Given the description of an element on the screen output the (x, y) to click on. 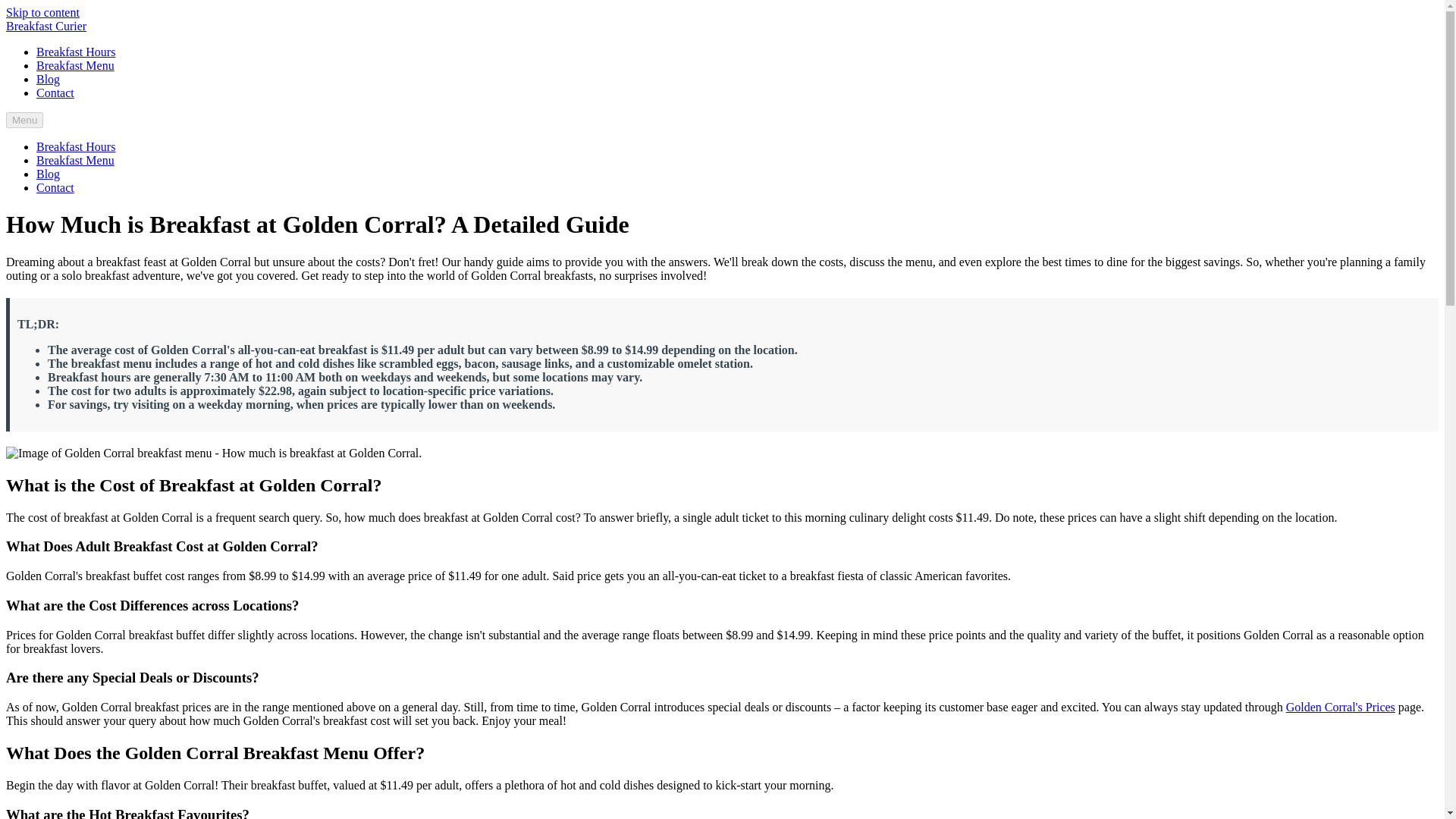
Breakfast Menu (75, 65)
Breakfast Curier (45, 25)
Contact (55, 92)
Breakfast Hours (75, 51)
Contact (55, 187)
Blog (47, 173)
Skip to content (42, 11)
Breakfast Menu (75, 160)
Menu (24, 119)
Golden Corral's Prices (1339, 707)
